Given the description of an element on the screen output the (x, y) to click on. 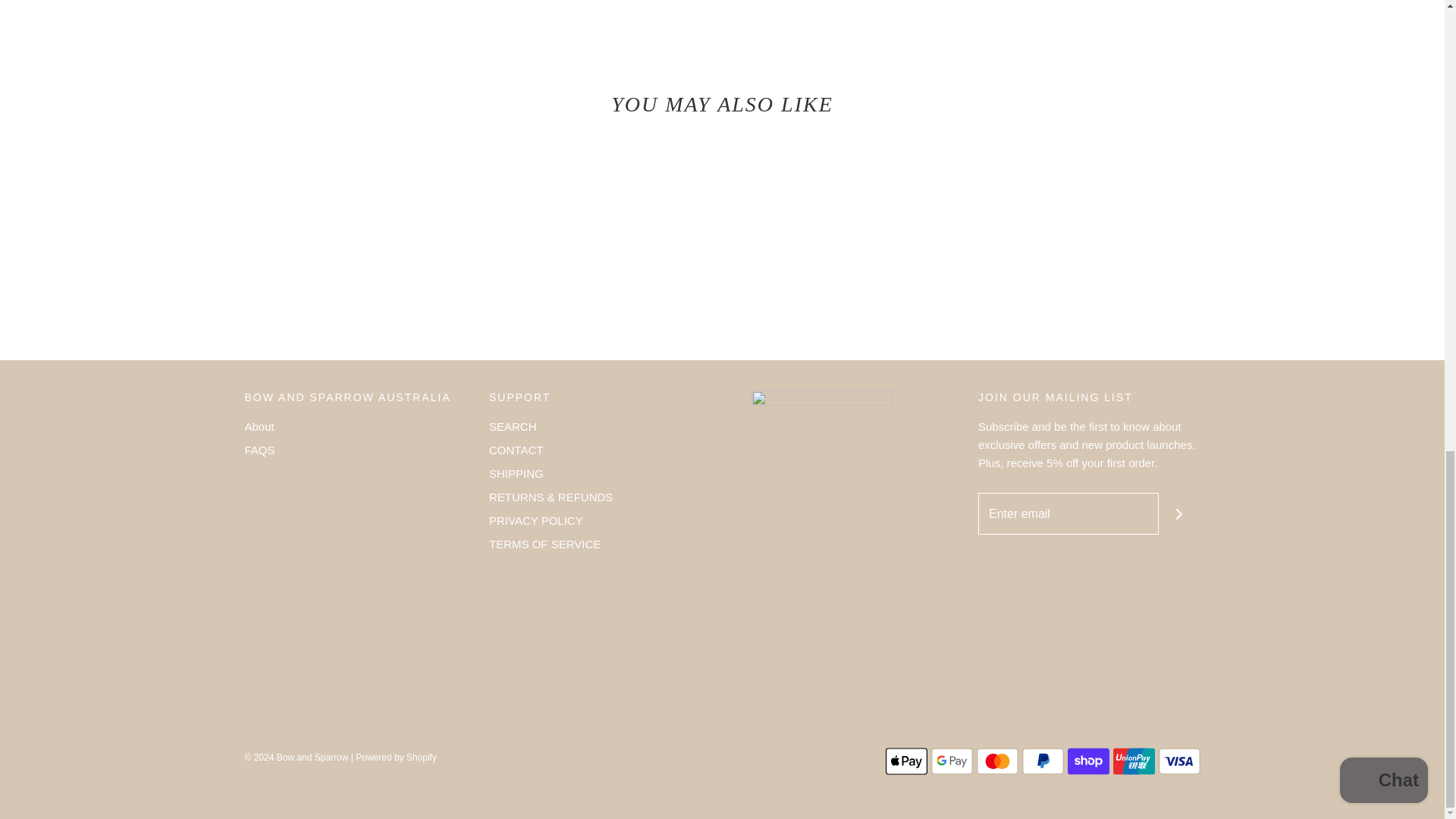
Union Pay (1133, 761)
Google Pay (951, 761)
Mastercard (996, 761)
Shop Pay (1088, 761)
Apple Pay (906, 761)
PayPal (1043, 761)
Visa (1178, 761)
